Given the description of an element on the screen output the (x, y) to click on. 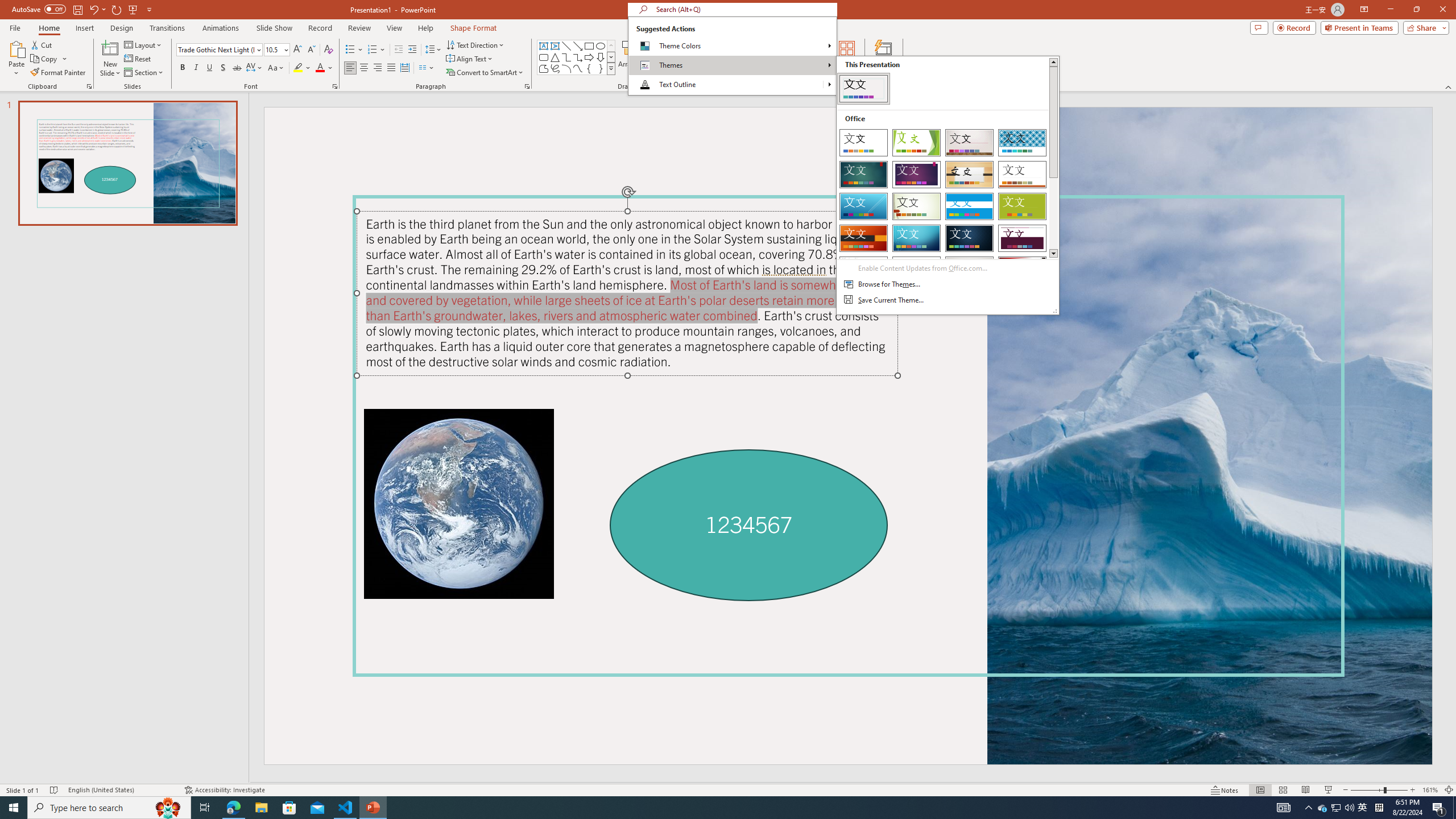
Align Left (349, 67)
Decrease Font Size (310, 49)
Bold (182, 67)
Right Brace (600, 68)
